Given the description of an element on the screen output the (x, y) to click on. 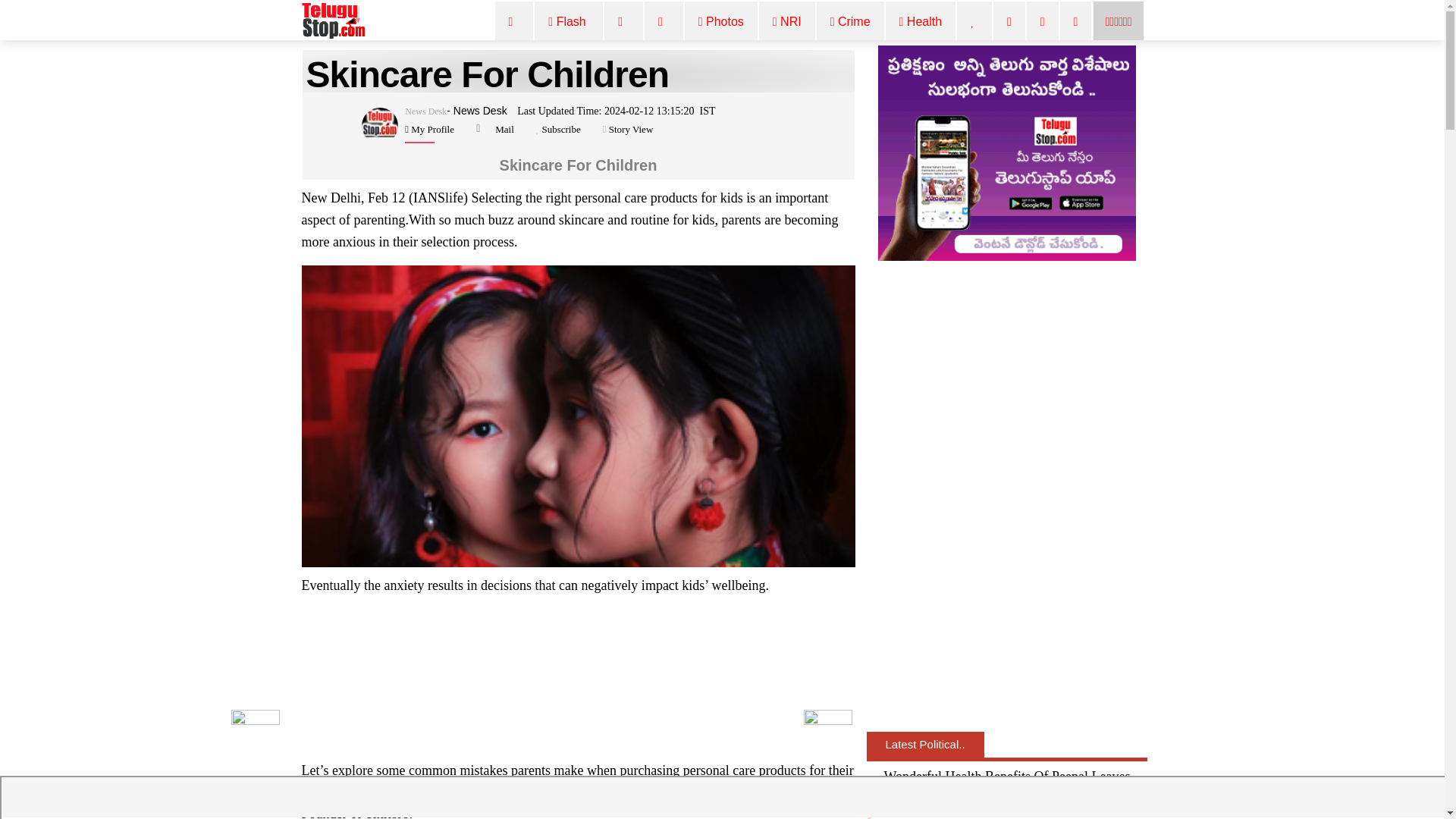
Bollywood Movie News (623, 22)
All Latest India Country wide National News (569, 22)
 My Profile (431, 129)
Home (514, 22)
 Photos (721, 22)
 Flash  (569, 22)
Political (664, 22)
Telugu Photo Galleries (721, 22)
Telugu Health Tips (920, 22)
